Given the description of an element on the screen output the (x, y) to click on. 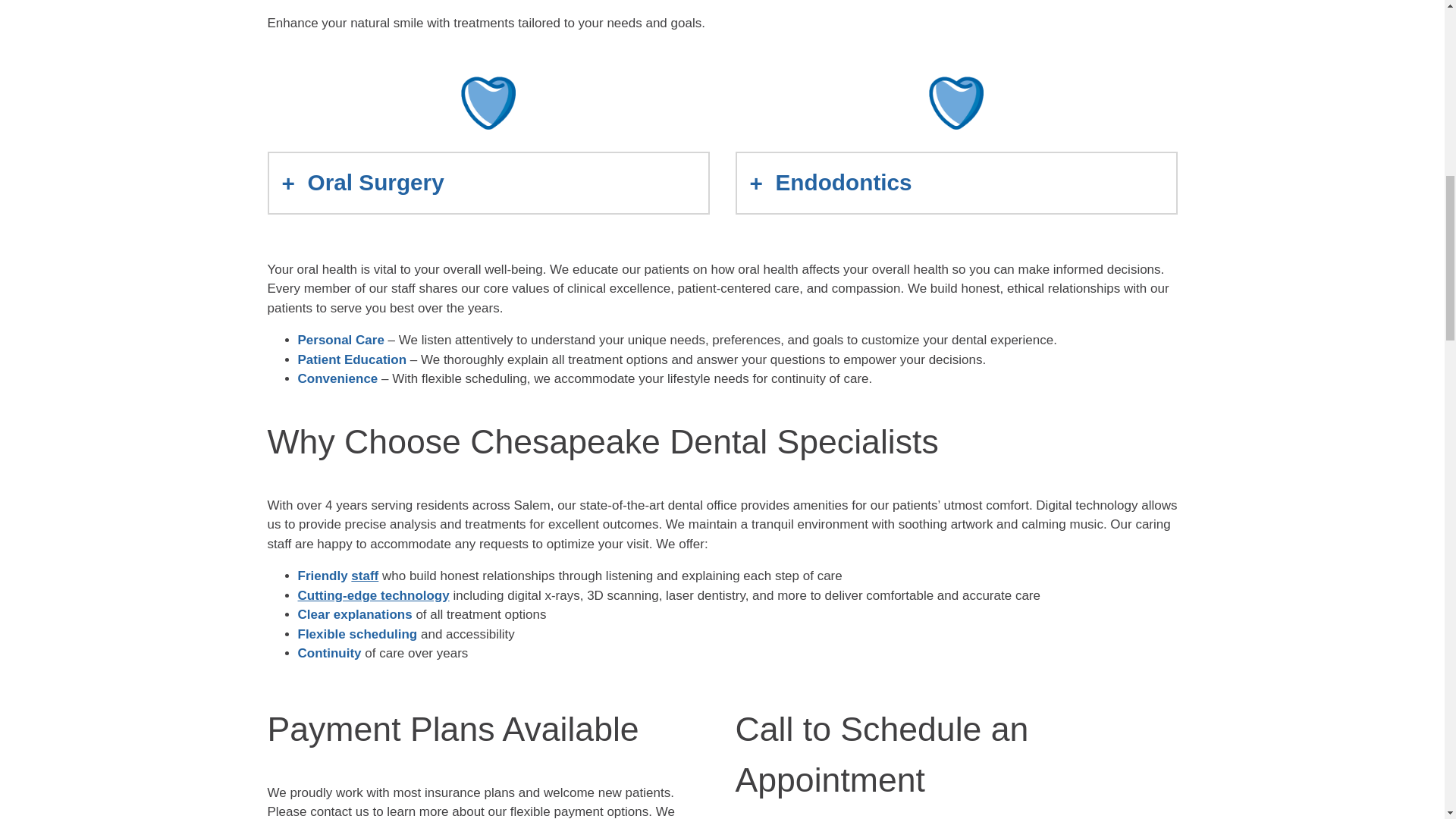
staff (364, 575)
Cutting-edge technology (372, 595)
